Given the description of an element on the screen output the (x, y) to click on. 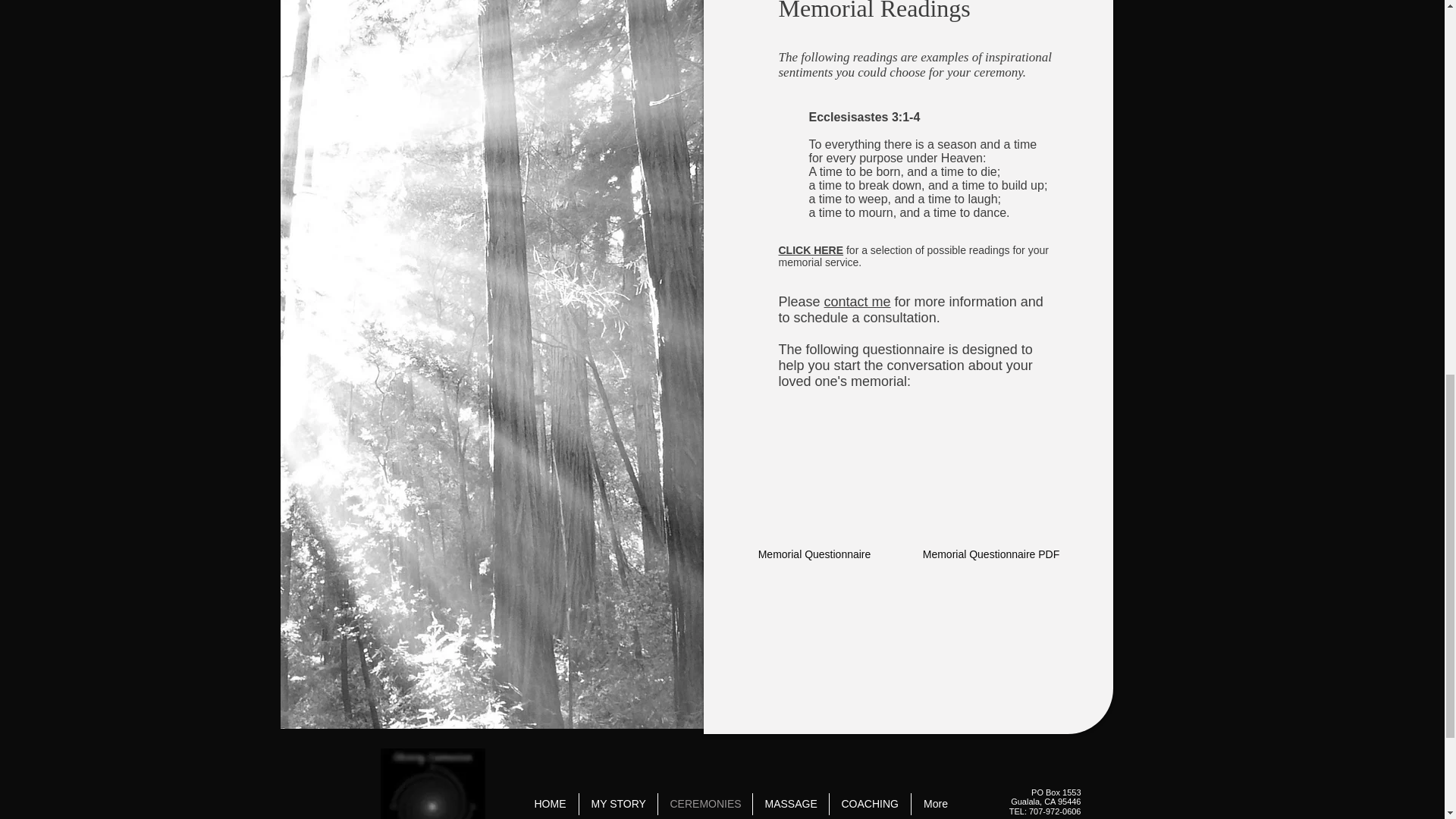
CLICK HERE (810, 250)
COACHING (870, 803)
Memorial Questionnaire PDF (990, 513)
contact me (857, 301)
CEREMONIES (705, 803)
HOME (549, 803)
MY STORY (618, 803)
MASSAGE (790, 803)
Memorial Questionnaire PDF (990, 513)
Memorial Questionnaire (814, 513)
Memorial Questionnaire (814, 513)
